Given the description of an element on the screen output the (x, y) to click on. 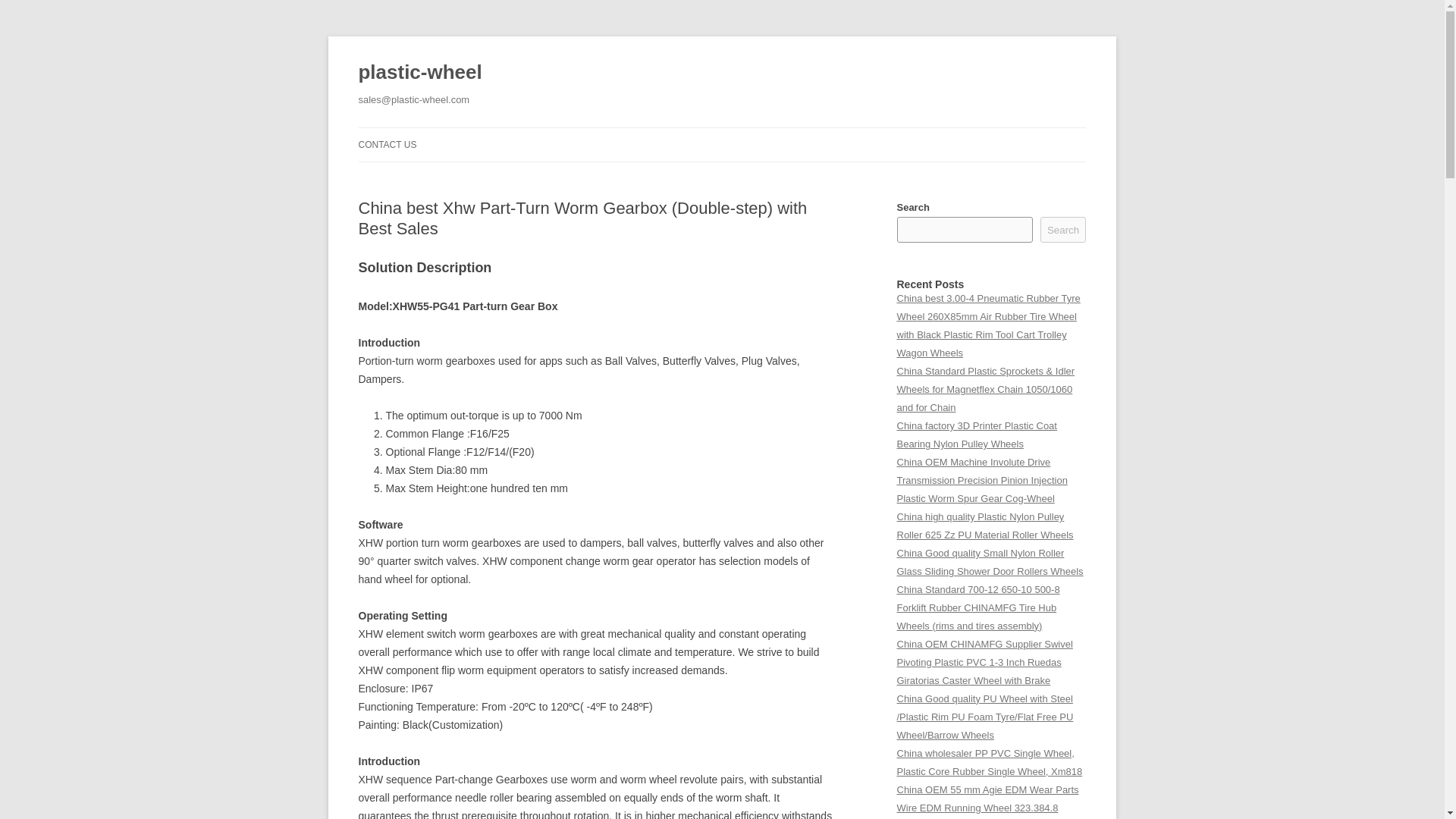
Search (1063, 229)
plastic-wheel (419, 72)
CONTACT US (387, 144)
